Given the description of an element on the screen output the (x, y) to click on. 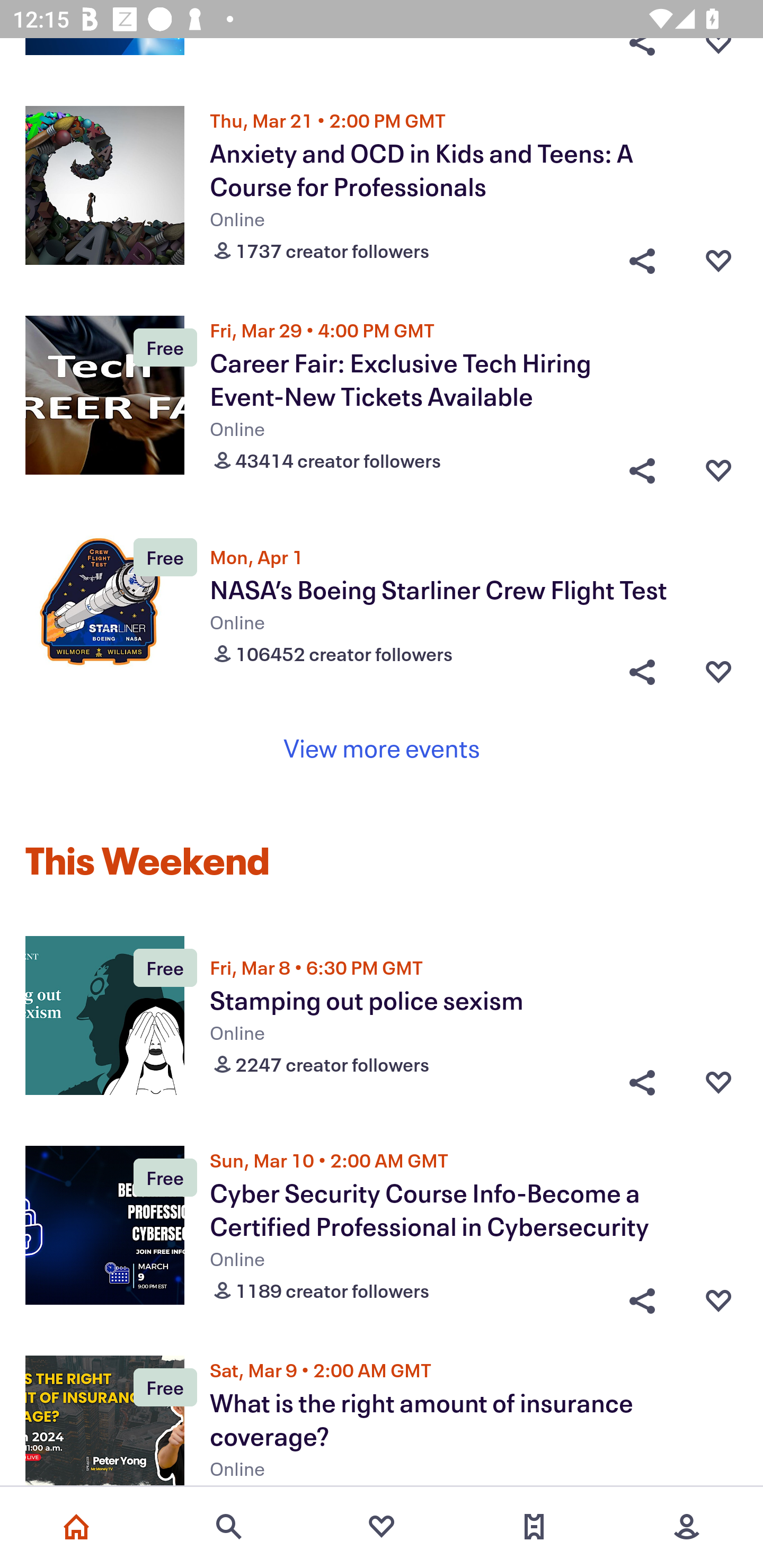
Share button (642, 256)
Favorite button (718, 256)
Share button (642, 466)
Favorite button (718, 466)
Share button (642, 671)
Favorite button (718, 671)
View more events (381, 747)
Share button (642, 1082)
Favorite button (718, 1082)
Share button (642, 1295)
Favorite button (718, 1295)
Home (76, 1526)
Search events (228, 1526)
Favorites (381, 1526)
Tickets (533, 1526)
More (686, 1526)
